Given the description of an element on the screen output the (x, y) to click on. 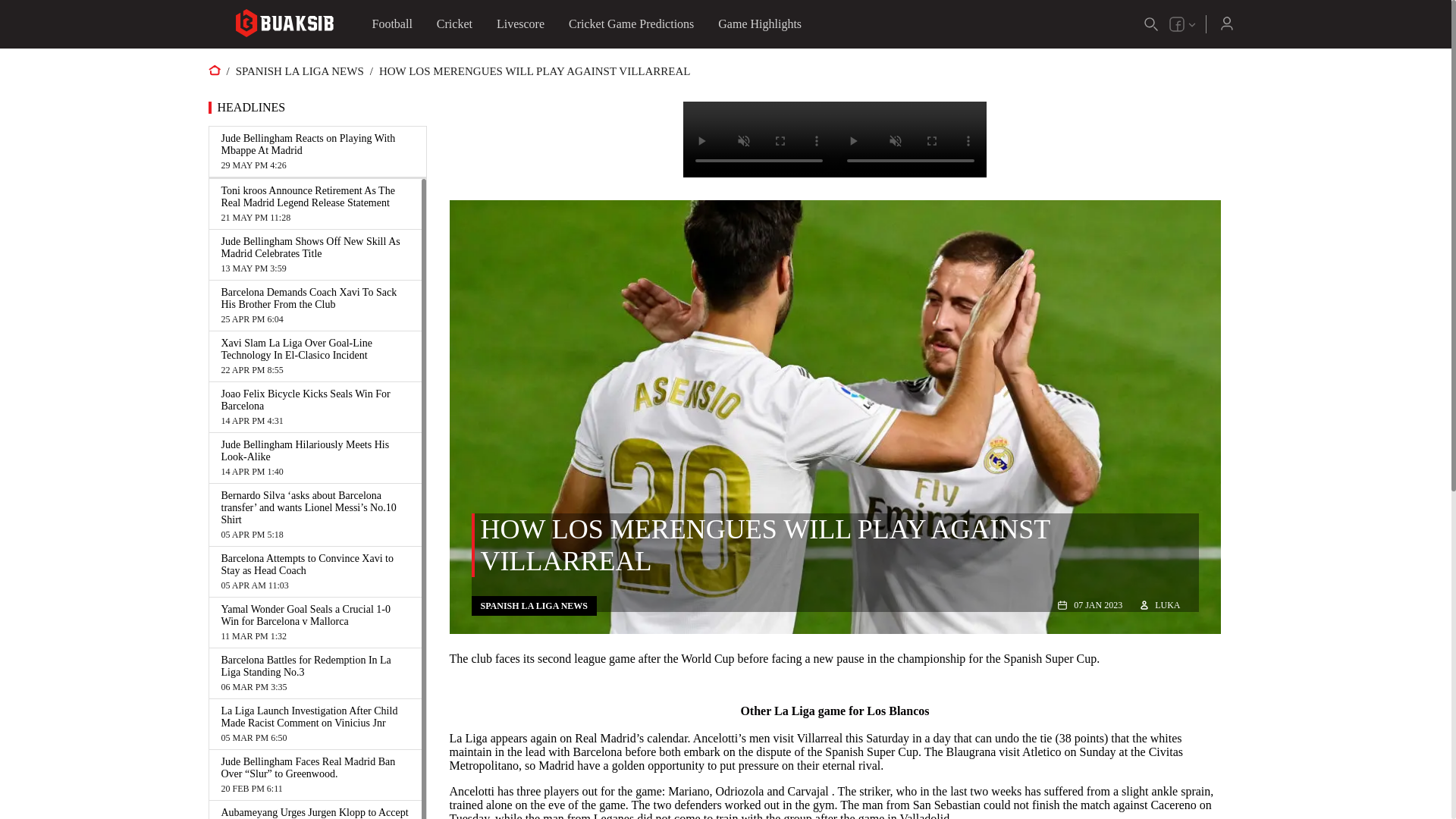
Football (391, 24)
SPANISH LA LIGA NEWS (299, 71)
Livescore (520, 24)
